Given the description of an element on the screen output the (x, y) to click on. 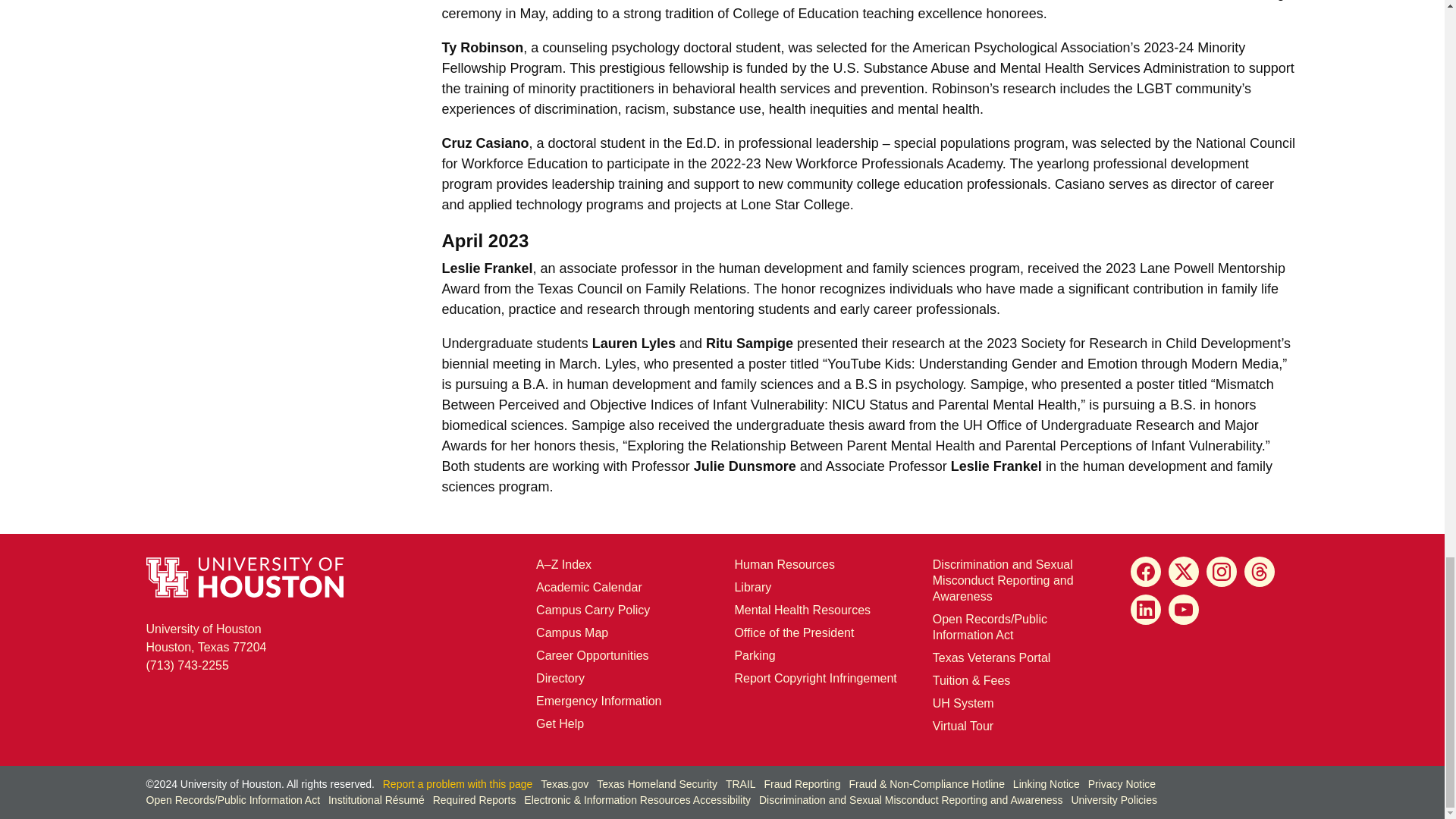
YouTube (1183, 609)
X (1183, 571)
Facebook (1145, 571)
LinkedIn (1145, 609)
Instagram (1221, 571)
Threads (1259, 571)
University of Houston (941, 703)
University of Houston (972, 425)
